Given the description of an element on the screen output the (x, y) to click on. 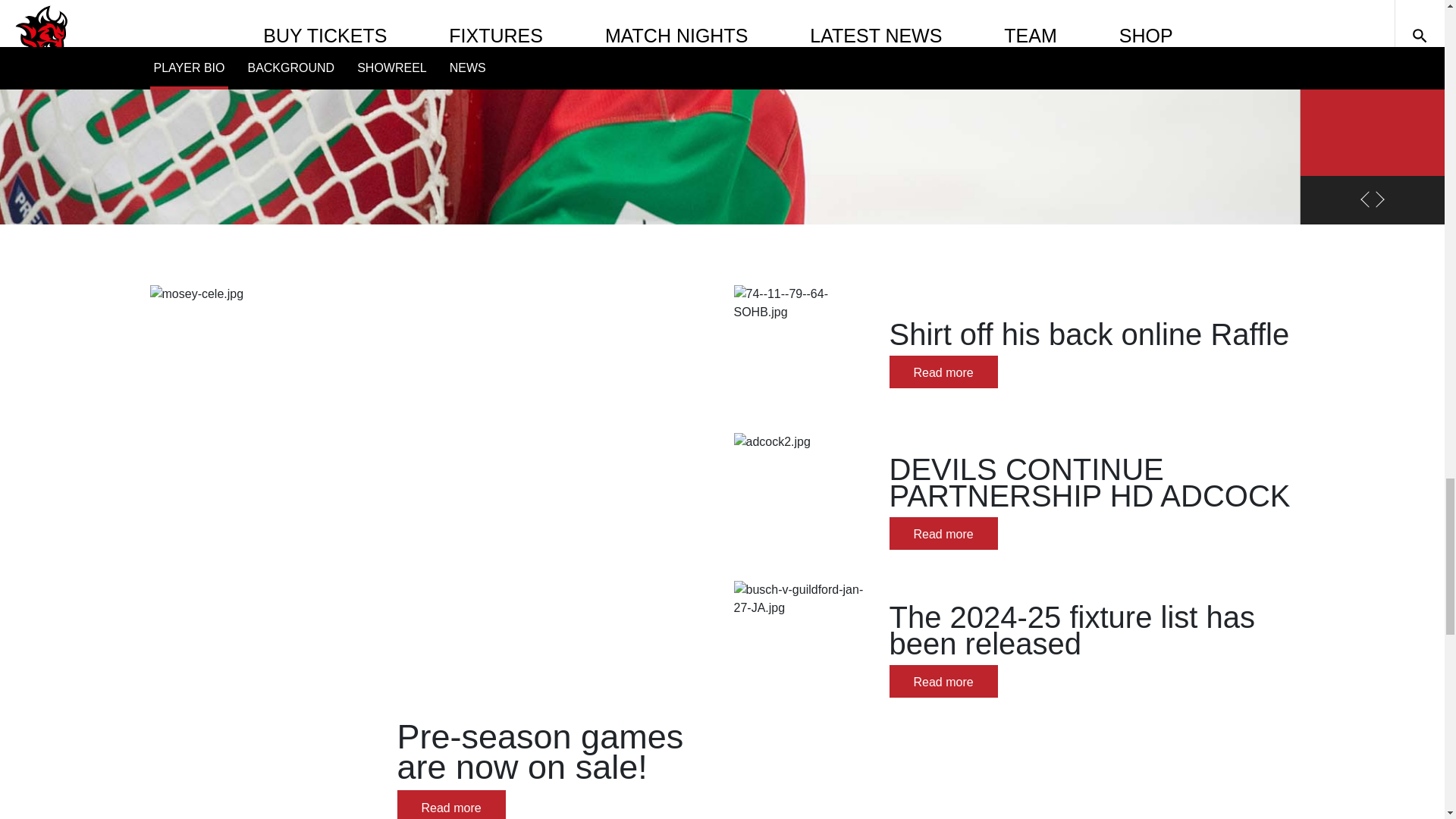
busch-v-guildford-jan-27-JA.jpg (804, 650)
74--11--79--64-SOHB.jpg (804, 355)
Read more (942, 371)
adcock2.jpg (804, 503)
Read more (942, 532)
Read more (942, 681)
Read more (451, 804)
